Given the description of an element on the screen output the (x, y) to click on. 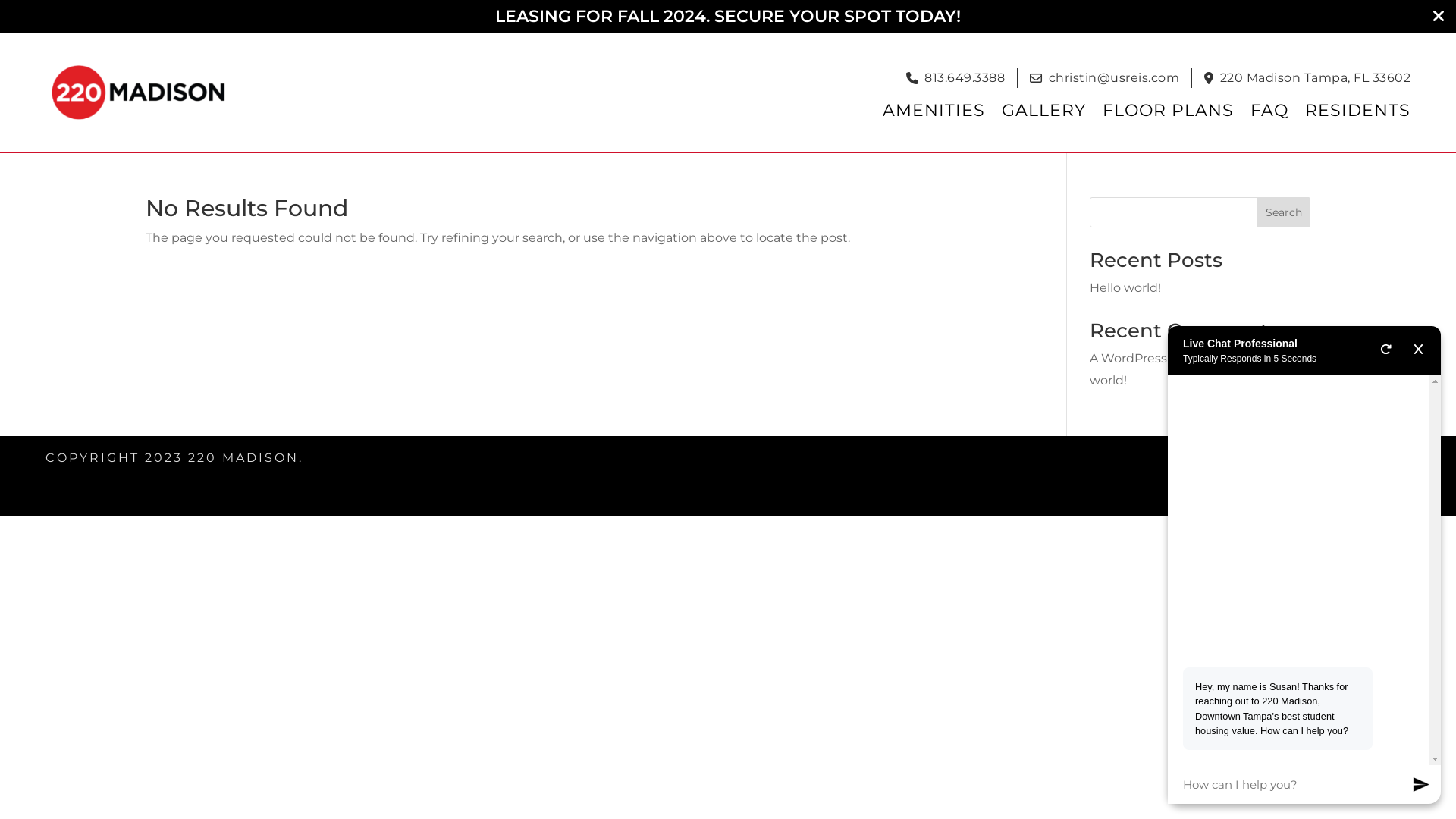
Hello world! Element type: text (1125, 287)
RESIDENTS Element type: text (1357, 110)
FLOOR PLANS Element type: text (1167, 110)
GALLERY Element type: text (1043, 110)
Hello world! Element type: text (1194, 369)
FAQ Element type: text (1269, 110)
220-madison Element type: hover (138, 91)
Close Element type: hover (1418, 350)
813.649.3388 Element type: text (964, 77)
christin@usreis.com Element type: text (1113, 77)
AMENITIES Element type: text (933, 110)
Search Element type: text (1283, 212)
Reset Conversation Element type: hover (1385, 350)
220 Madison Tampa, FL 33602 Element type: text (1314, 77)
A WordPress Commenter Element type: text (1167, 358)
